Given the description of an element on the screen output the (x, y) to click on. 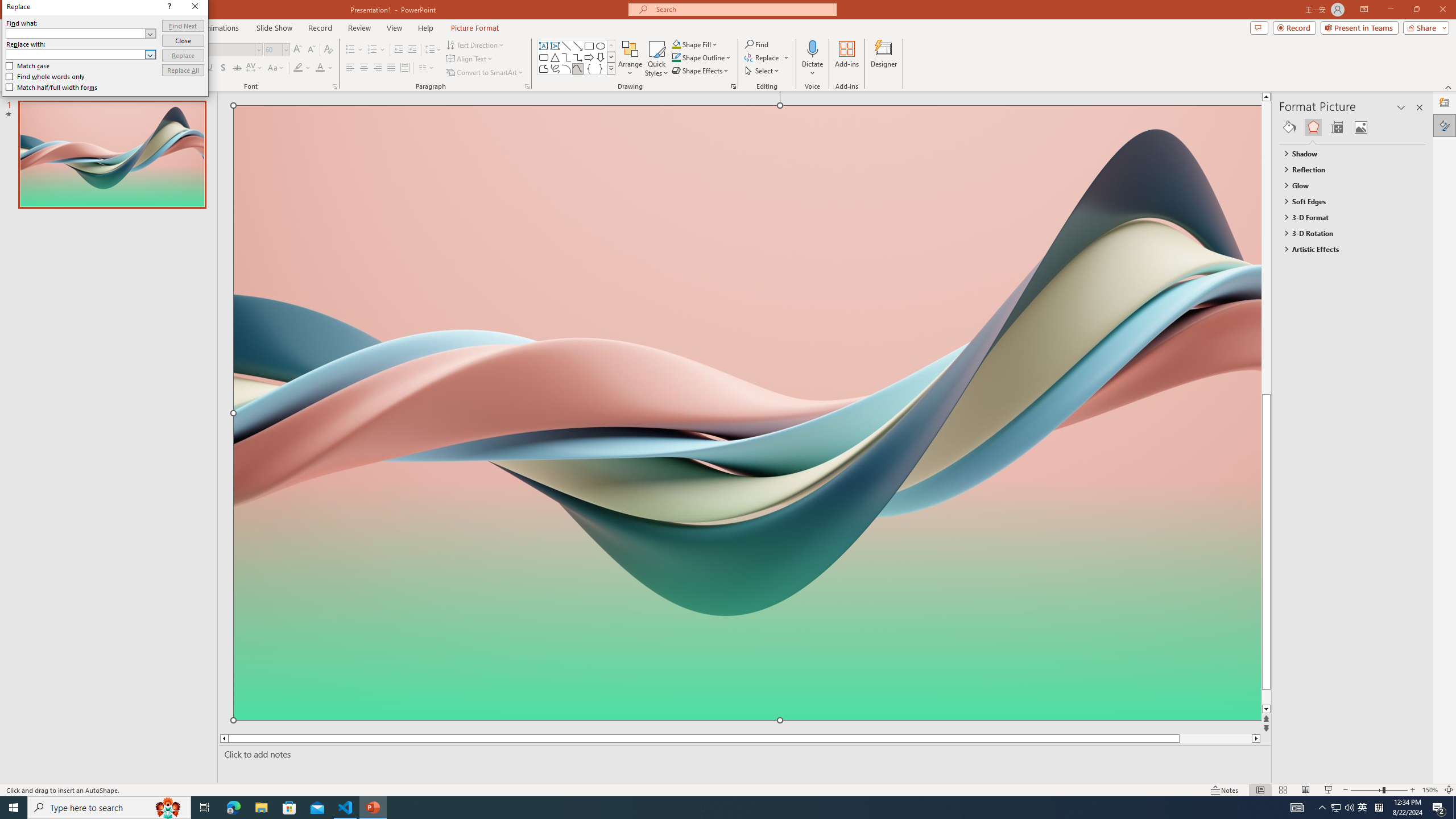
Wavy 3D art (747, 412)
Effects (1313, 126)
Type here to search (108, 807)
Connector: Elbow (566, 57)
Format Object... (733, 85)
Columns (426, 67)
Paragraph... (526, 85)
AutomationID: ShapesInsertGallery (576, 57)
Reflection (1347, 169)
Find what (75, 33)
